Given the description of an element on the screen output the (x, y) to click on. 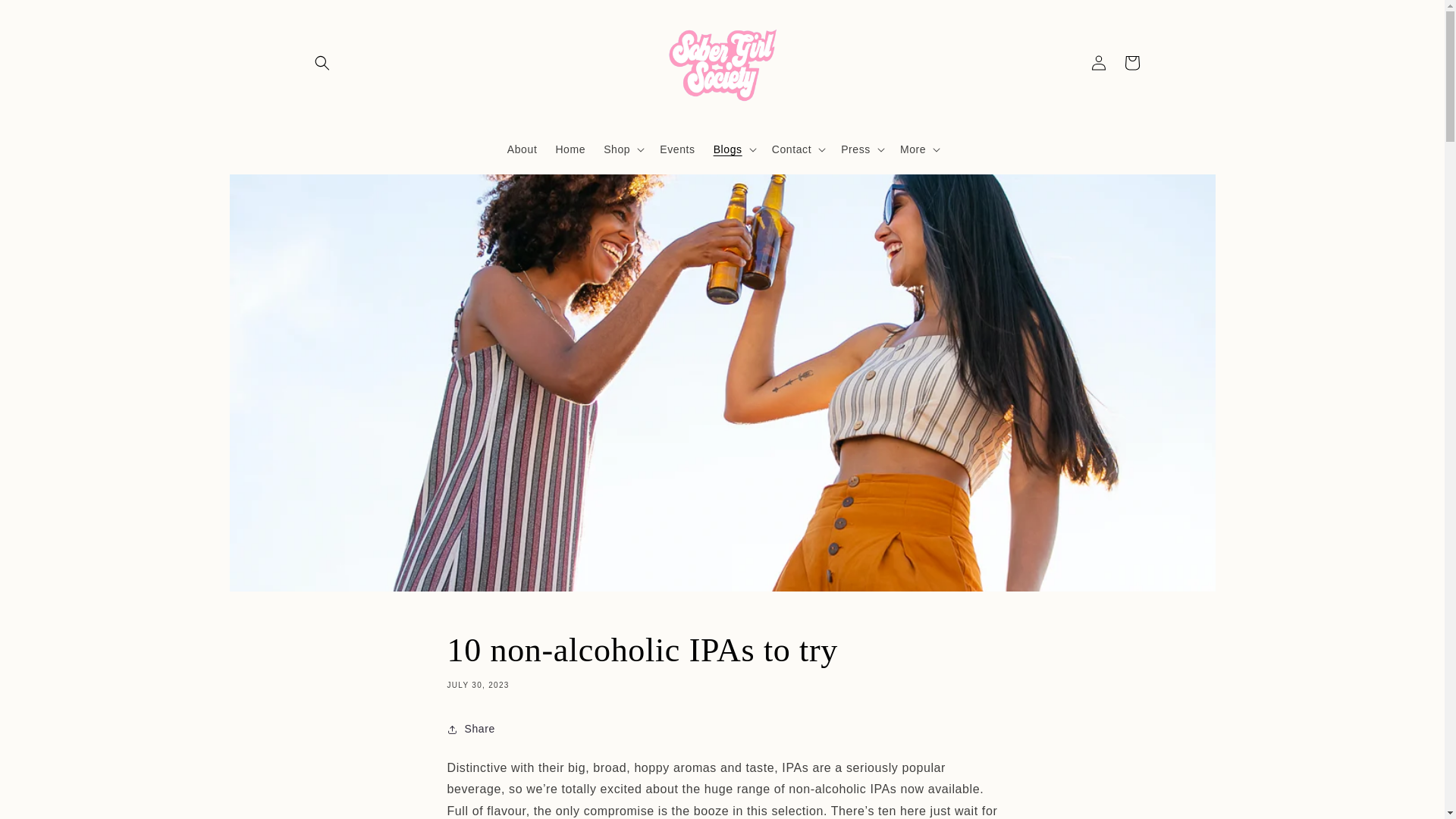
Skip to content (45, 17)
Events (676, 149)
Home (570, 149)
About (522, 149)
